Given the description of an element on the screen output the (x, y) to click on. 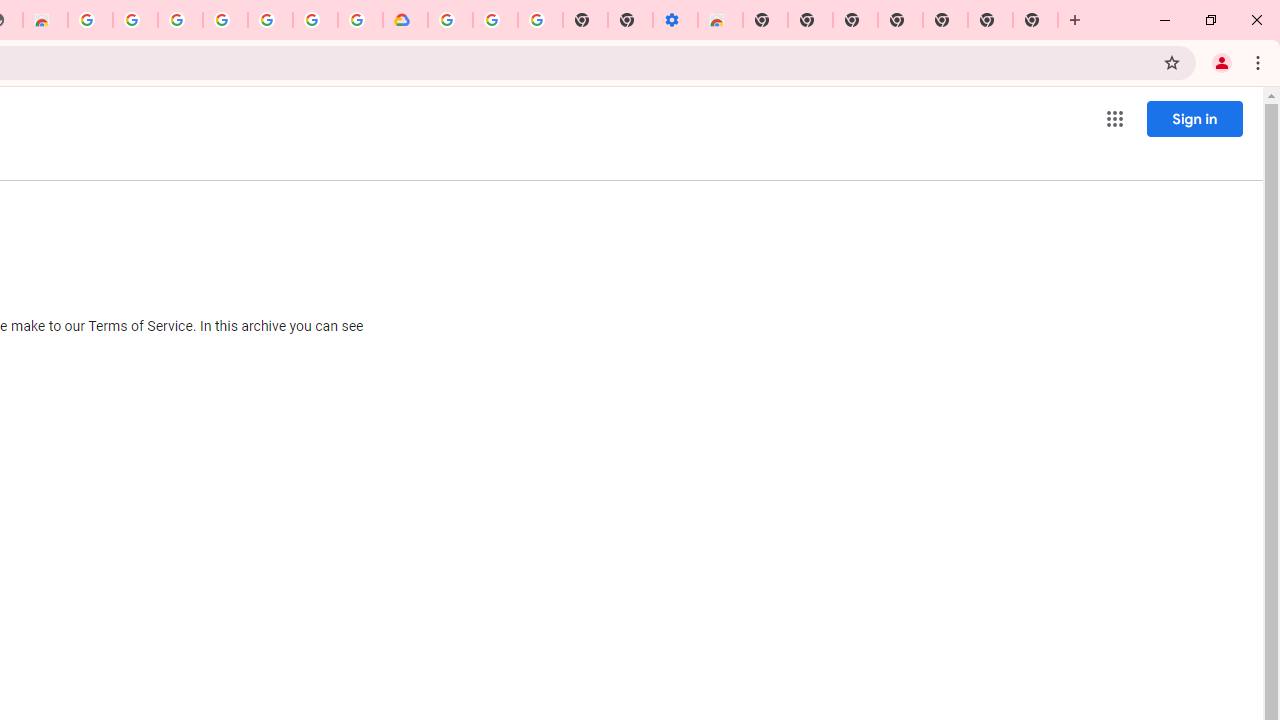
Settings - Accessibility (674, 20)
Sign in - Google Accounts (180, 20)
Chrome Web Store - Accessibility extensions (720, 20)
Sign in - Google Accounts (450, 20)
Turn cookies on or off - Computer - Google Account Help (540, 20)
Chrome Web Store - Household (45, 20)
